Given the description of an element on the screen output the (x, y) to click on. 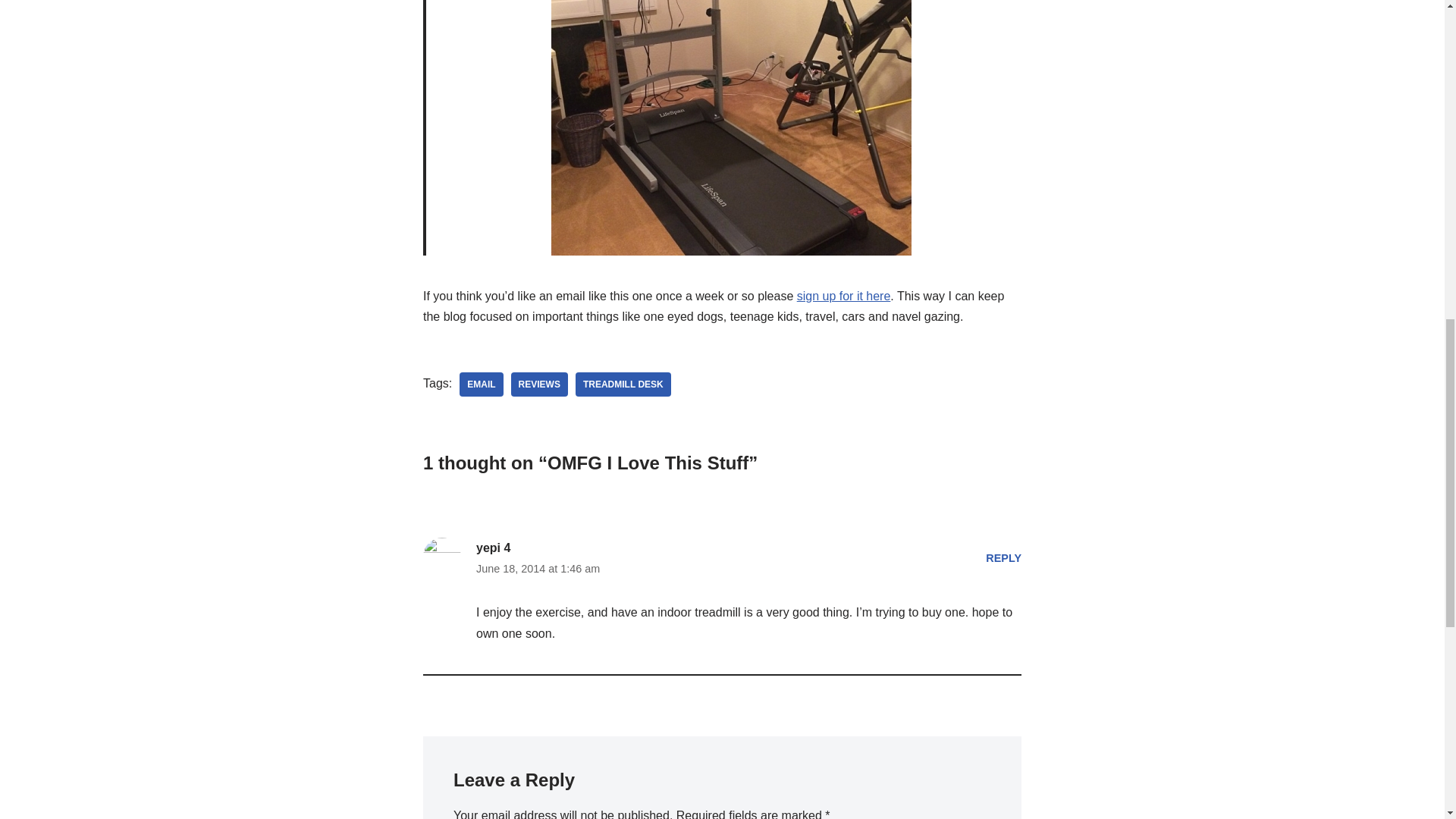
sign up for it here (843, 295)
yepi 4 (493, 547)
treadmill desk (623, 384)
REVIEWS (539, 384)
reviews (539, 384)
EMAIL (481, 384)
email (481, 384)
TREADMILL DESK (623, 384)
mailchimp sign up form (843, 295)
REPLY (1003, 558)
